Given the description of an element on the screen output the (x, y) to click on. 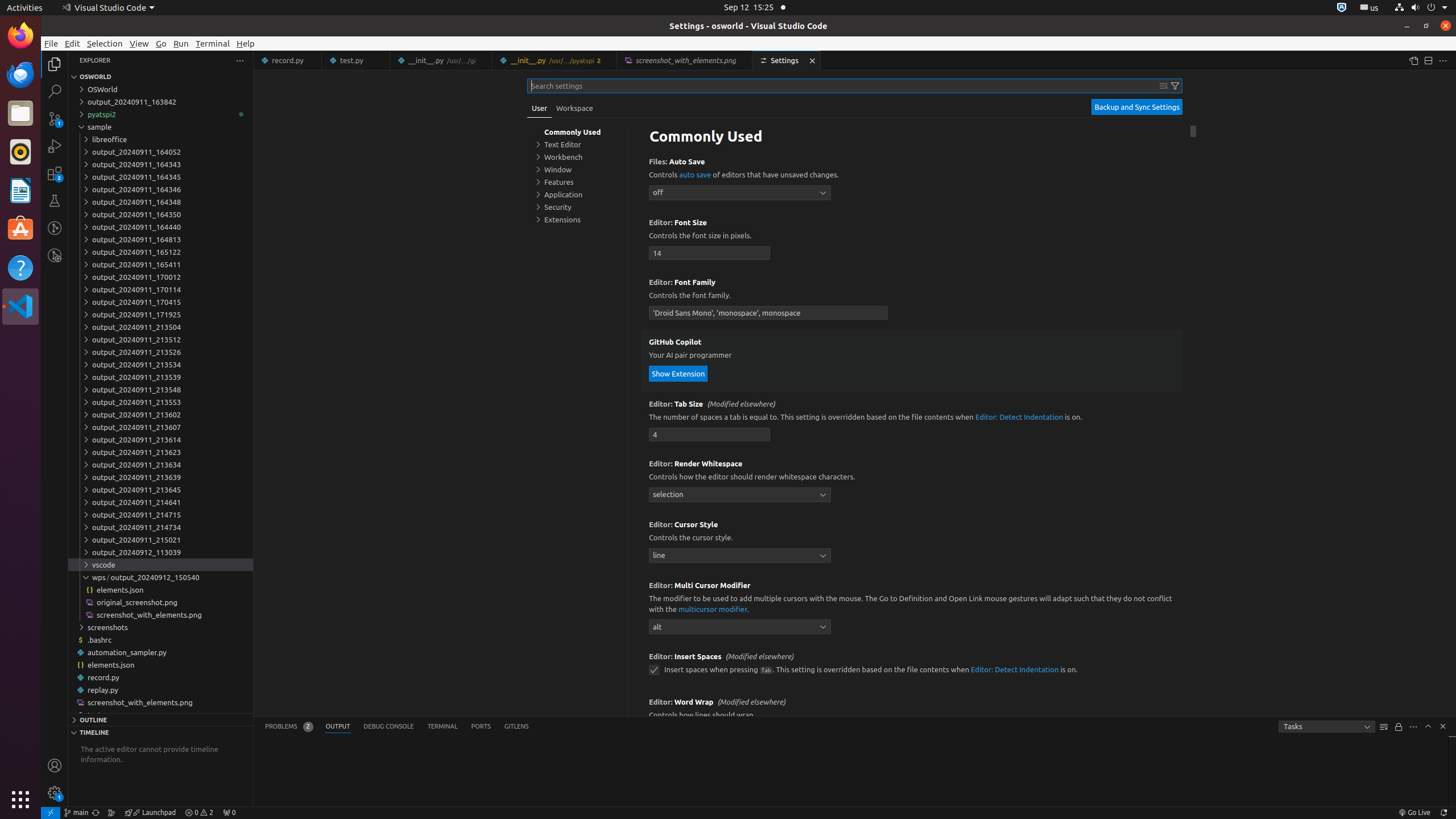
broadcast Go Live, Click to run live server Element type: push-button (1414, 812)
off Element type: menu-item (739, 192)
Workbench, group Element type: tree-item (577, 156)
pyatspi2 Element type: tree-item (160, 114)
